Given the description of an element on the screen output the (x, y) to click on. 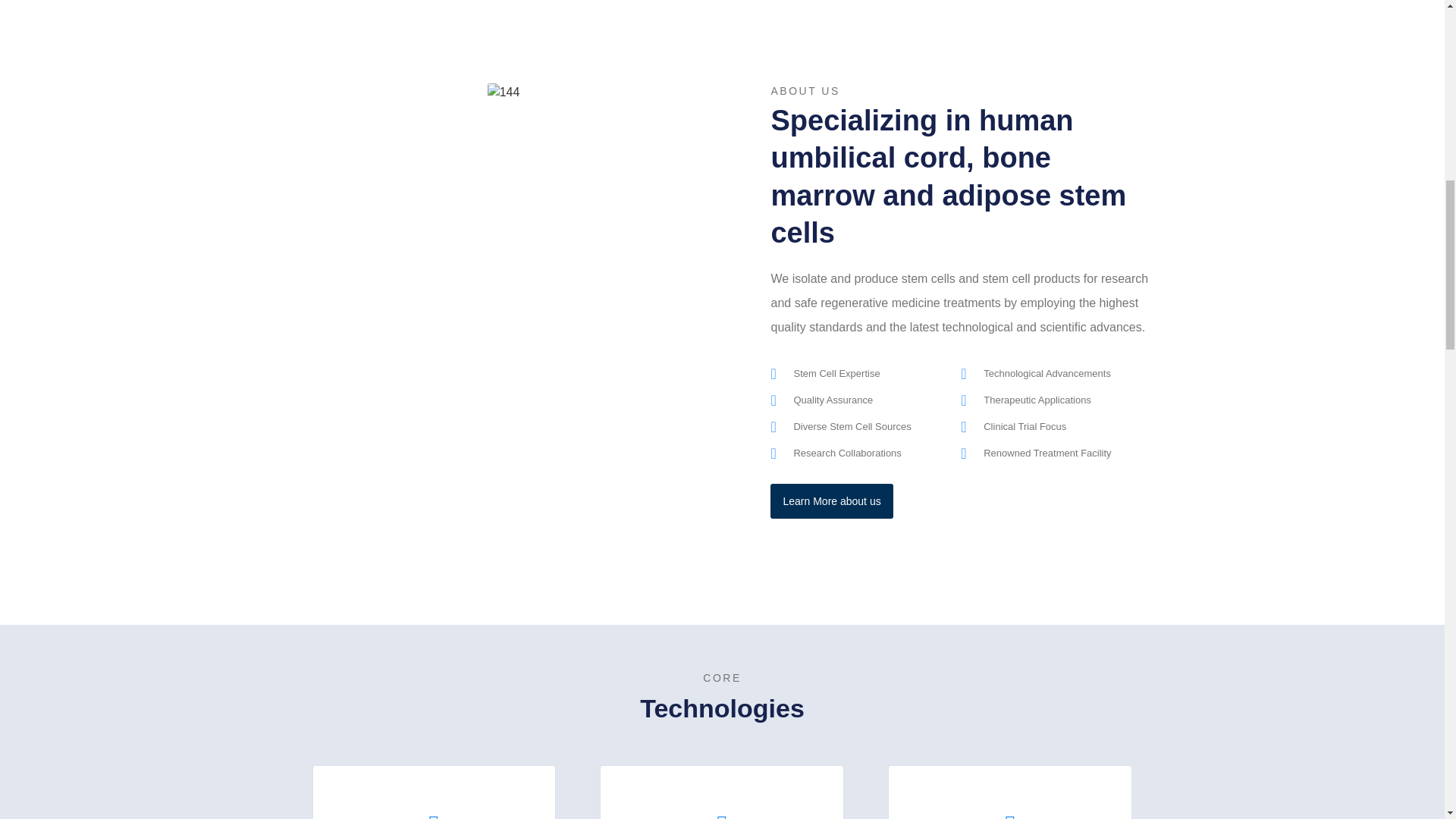
144 (503, 92)
Learn More about us (831, 501)
